Given the description of an element on the screen output the (x, y) to click on. 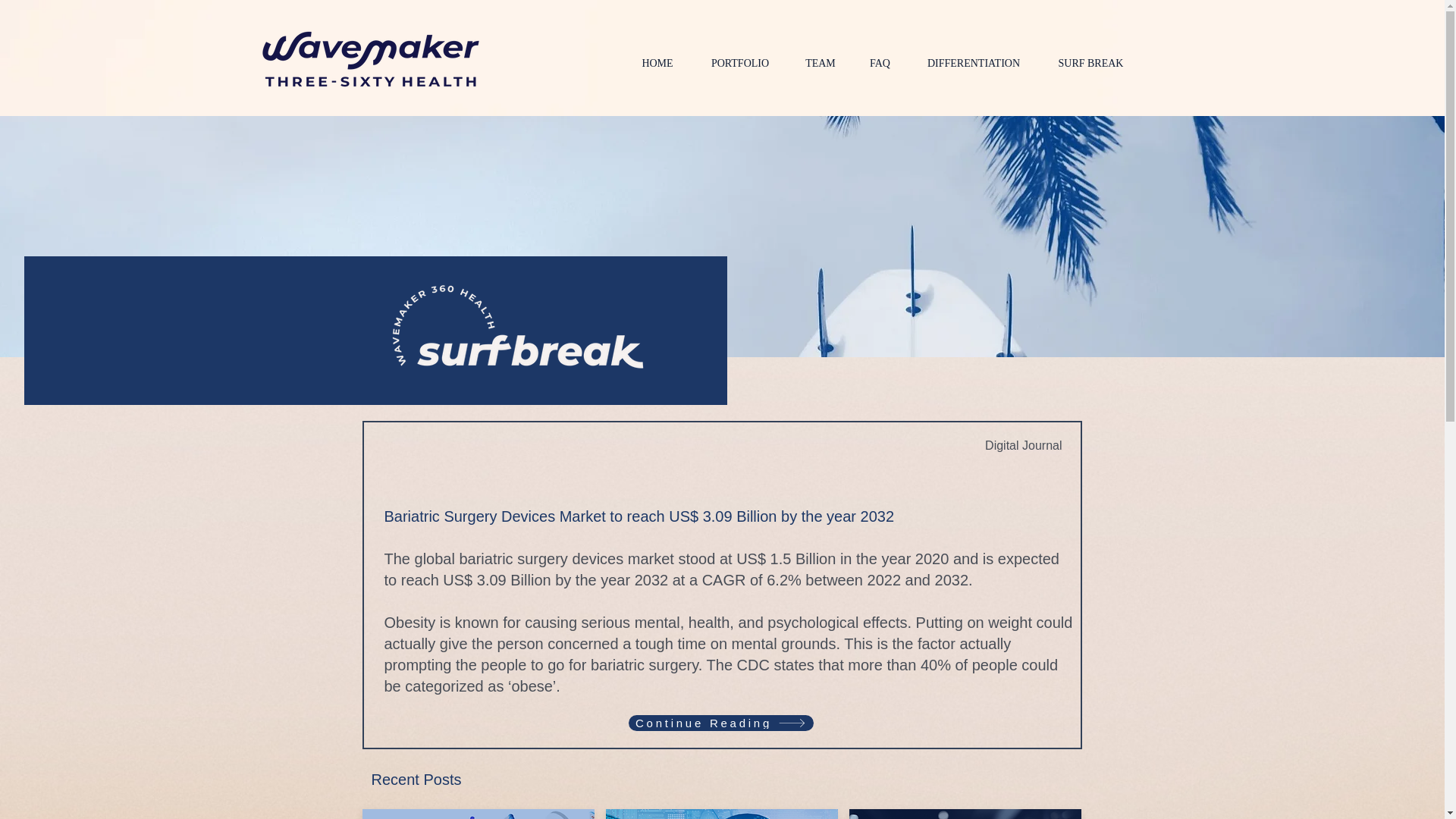
SURF BREAK (1090, 63)
HC IT SB.png (478, 814)
TEAM (820, 63)
31.png (964, 814)
Continue Reading (719, 722)
PORTFOLIO (740, 63)
HC AI SB.png (721, 814)
FAQ (879, 63)
DIFFERENTIATION (973, 63)
HOME (656, 63)
